Given the description of an element on the screen output the (x, y) to click on. 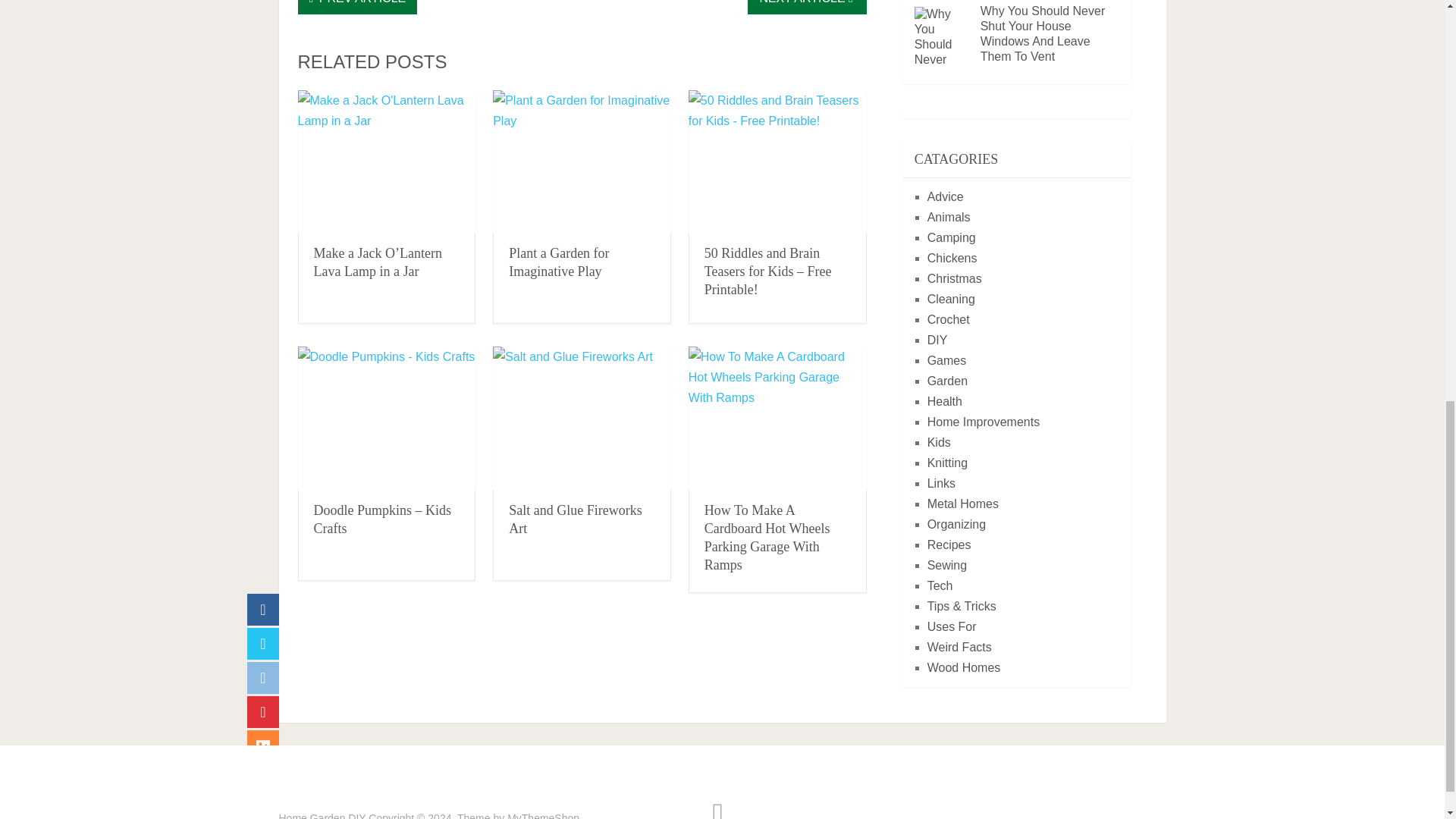
Plant a Garden for Imaginative Play (558, 262)
Salt and Glue Fireworks Art (575, 519)
Plant a Garden for Imaginative Play (558, 262)
Plant a Garden for Imaginative Play (582, 161)
PREV ARTICLE (356, 7)
NEXT ARTICLE (807, 7)
